Given the description of an element on the screen output the (x, y) to click on. 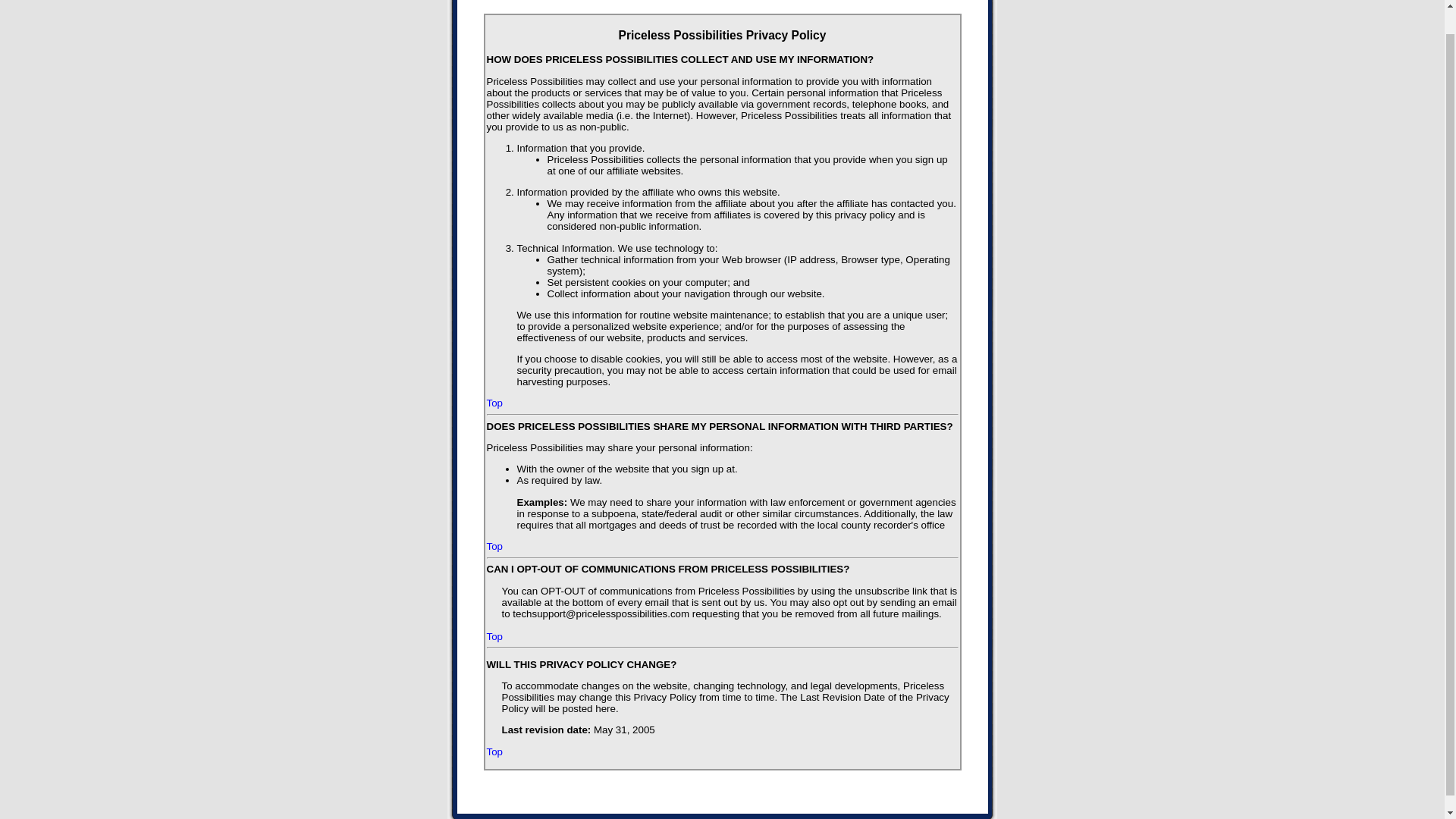
Top (494, 636)
Top (494, 402)
Top (494, 751)
Priceless Possibilities Privacy Policy (722, 35)
Top (494, 546)
